Given the description of an element on the screen output the (x, y) to click on. 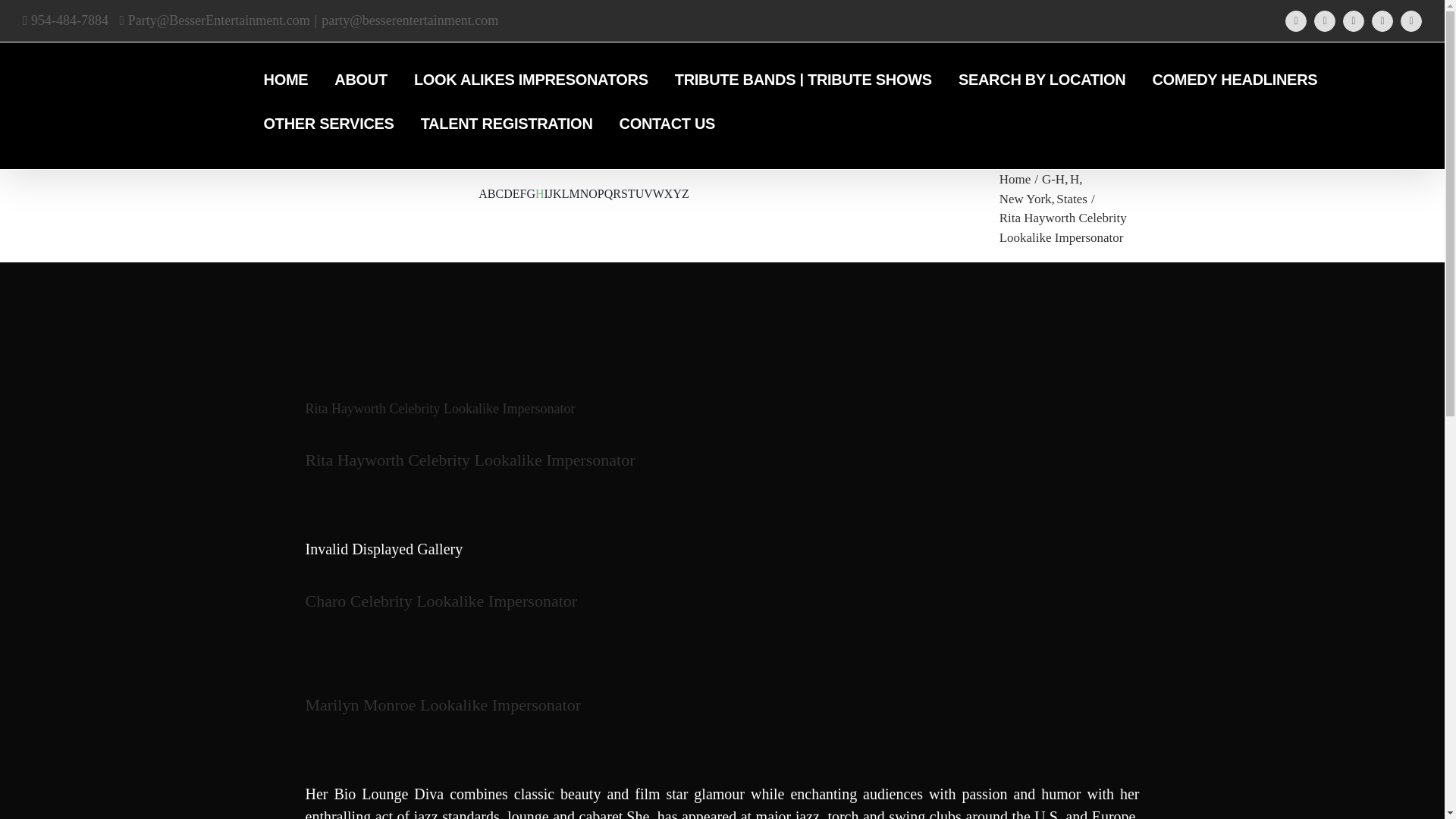
LinkedIn (1411, 20)
HOME (285, 79)
954-484-7884 (65, 20)
Instagram (1382, 20)
LOOK ALIKES IMPRESONATORS (530, 79)
ABOUT (361, 79)
Facebook (1295, 20)
Facebook (1295, 20)
YouTube (1324, 20)
X (1353, 20)
X (1353, 20)
YouTube (1324, 20)
Instagram (1382, 20)
LinkedIn (1411, 20)
